Given the description of an element on the screen output the (x, y) to click on. 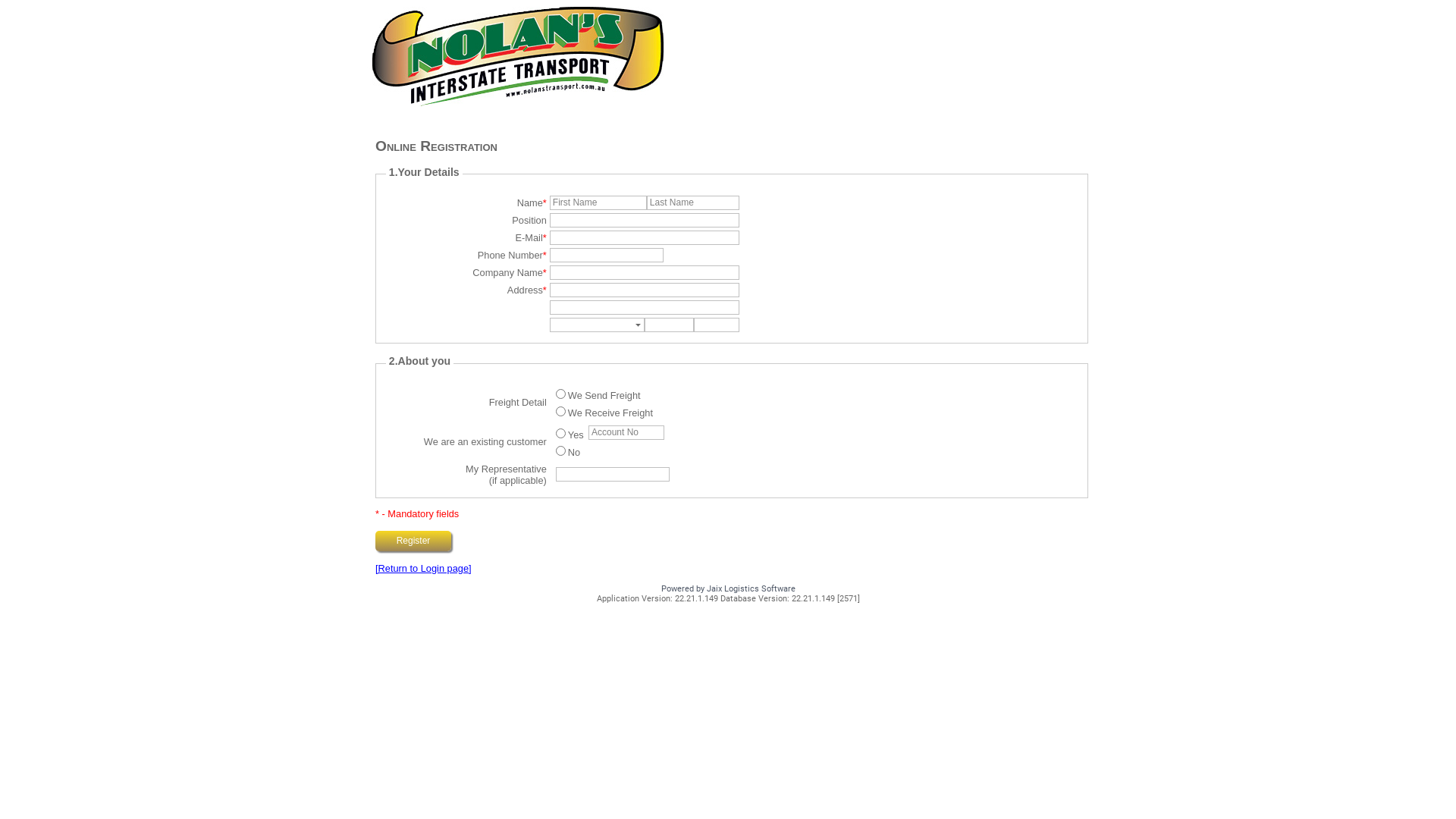
Your E-Mail Address Element type: hover (644, 237)
Your Phone Number Element type: hover (606, 254)
Your Sales Repren Element type: hover (612, 474)
Your Position Element type: hover (644, 220)
Your Address Element type: hover (644, 289)
Your Company Name Element type: hover (644, 272)
Your Address Element type: hover (644, 307)
[Return to Login page] Element type: text (423, 568)
